Given the description of an element on the screen output the (x, y) to click on. 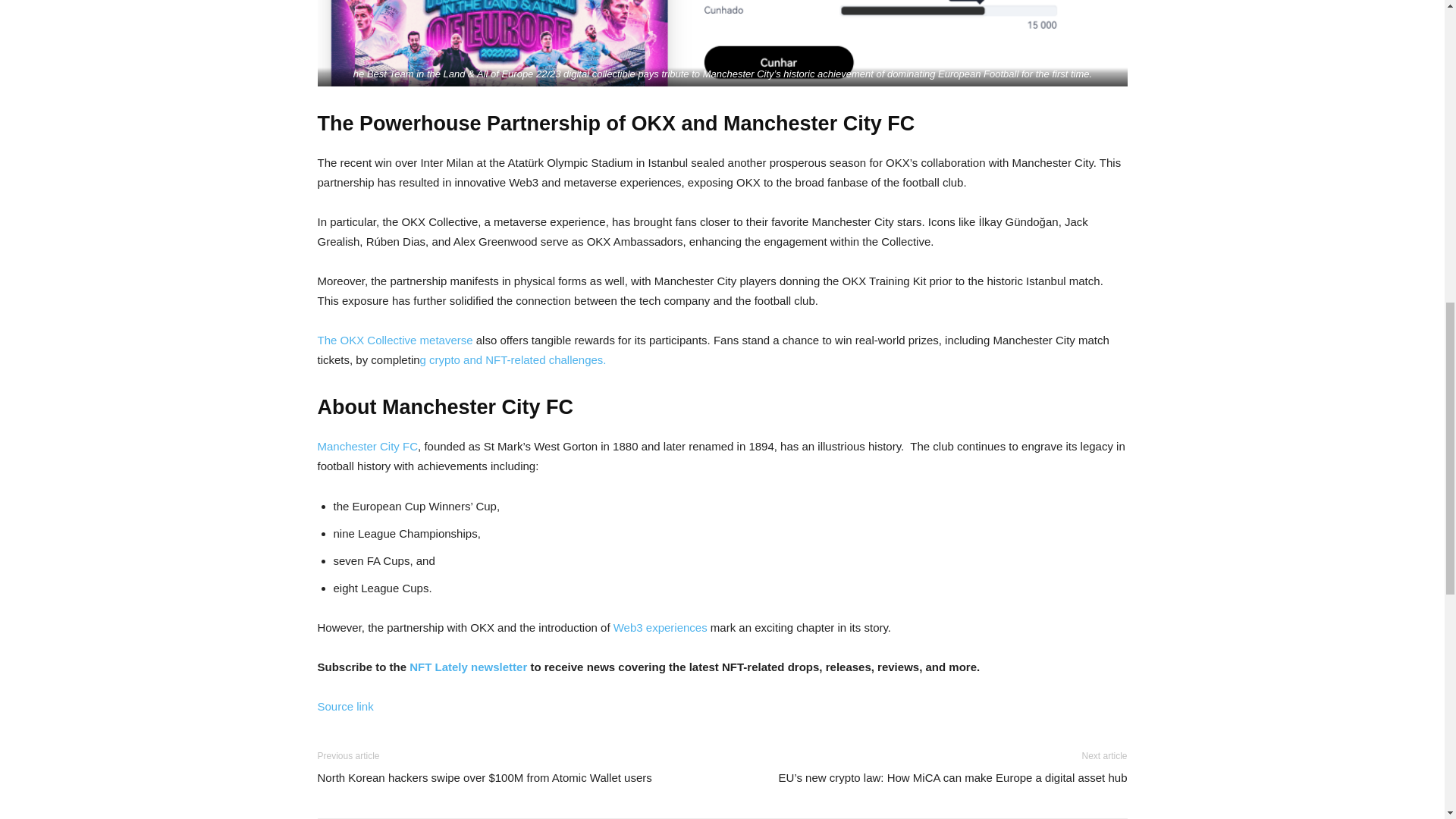
Source link (344, 706)
 NFT Lately newsletter (466, 666)
Manchester City FC (367, 445)
Web3 experiences (659, 626)
The OKX Collective metaverse (396, 339)
g crypto and NFT-related challenges. (513, 359)
